Given the description of an element on the screen output the (x, y) to click on. 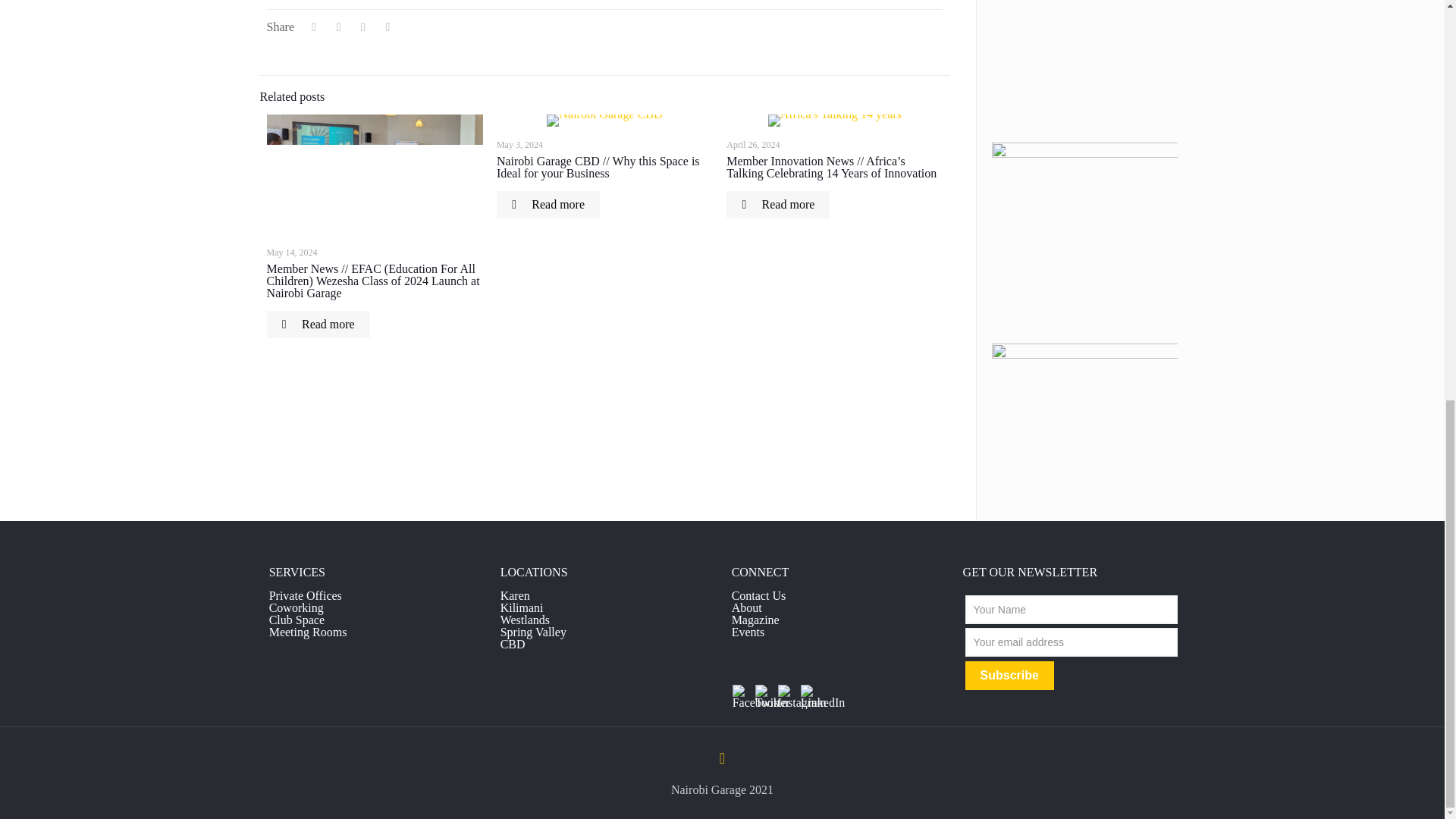
Instagram (786, 693)
Subscribe (1009, 675)
Facebook (741, 693)
Twitter (764, 693)
LinkedIn (809, 693)
